Given the description of an element on the screen output the (x, y) to click on. 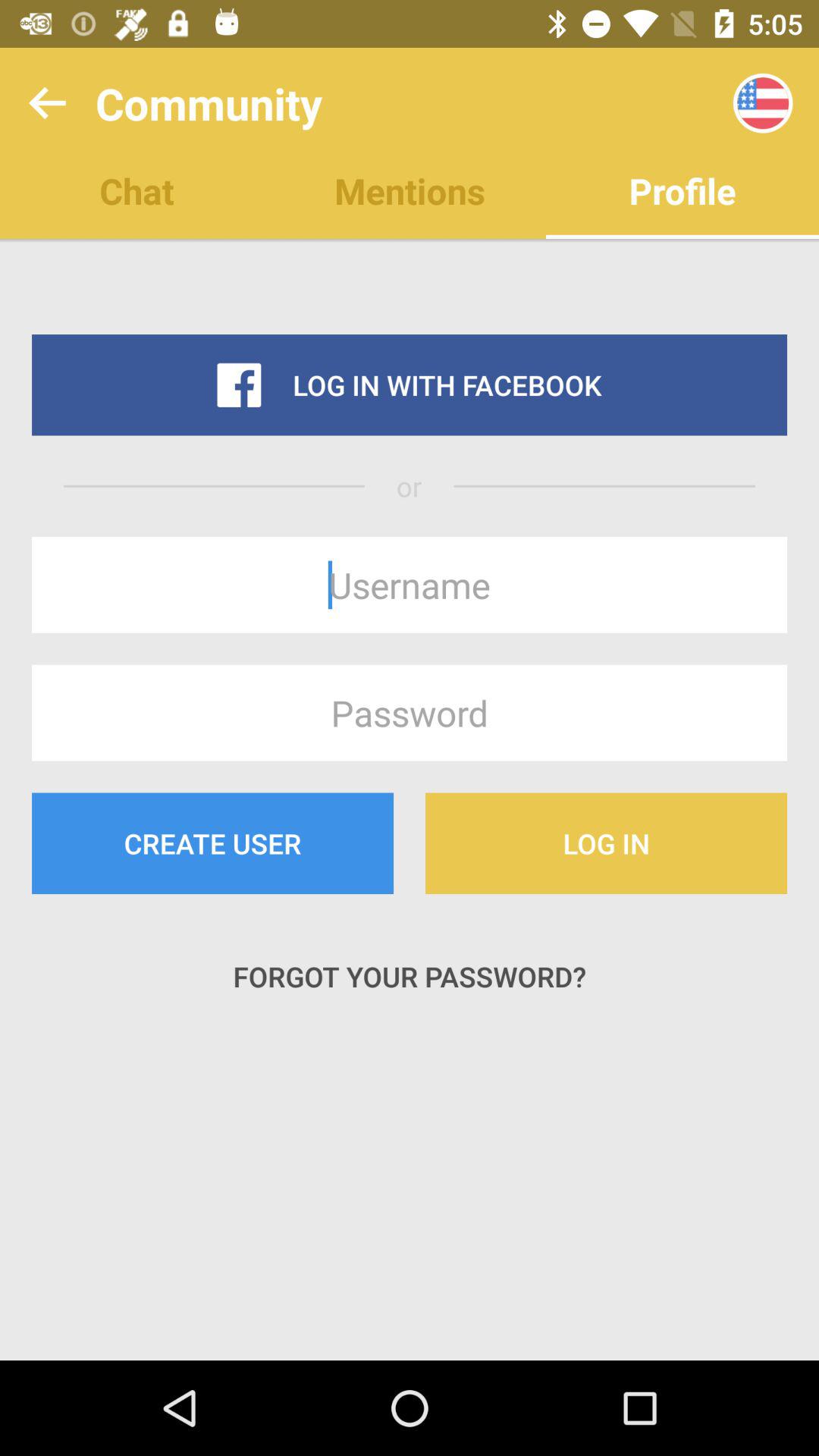
flip to forgot your password? item (409, 976)
